Given the description of an element on the screen output the (x, y) to click on. 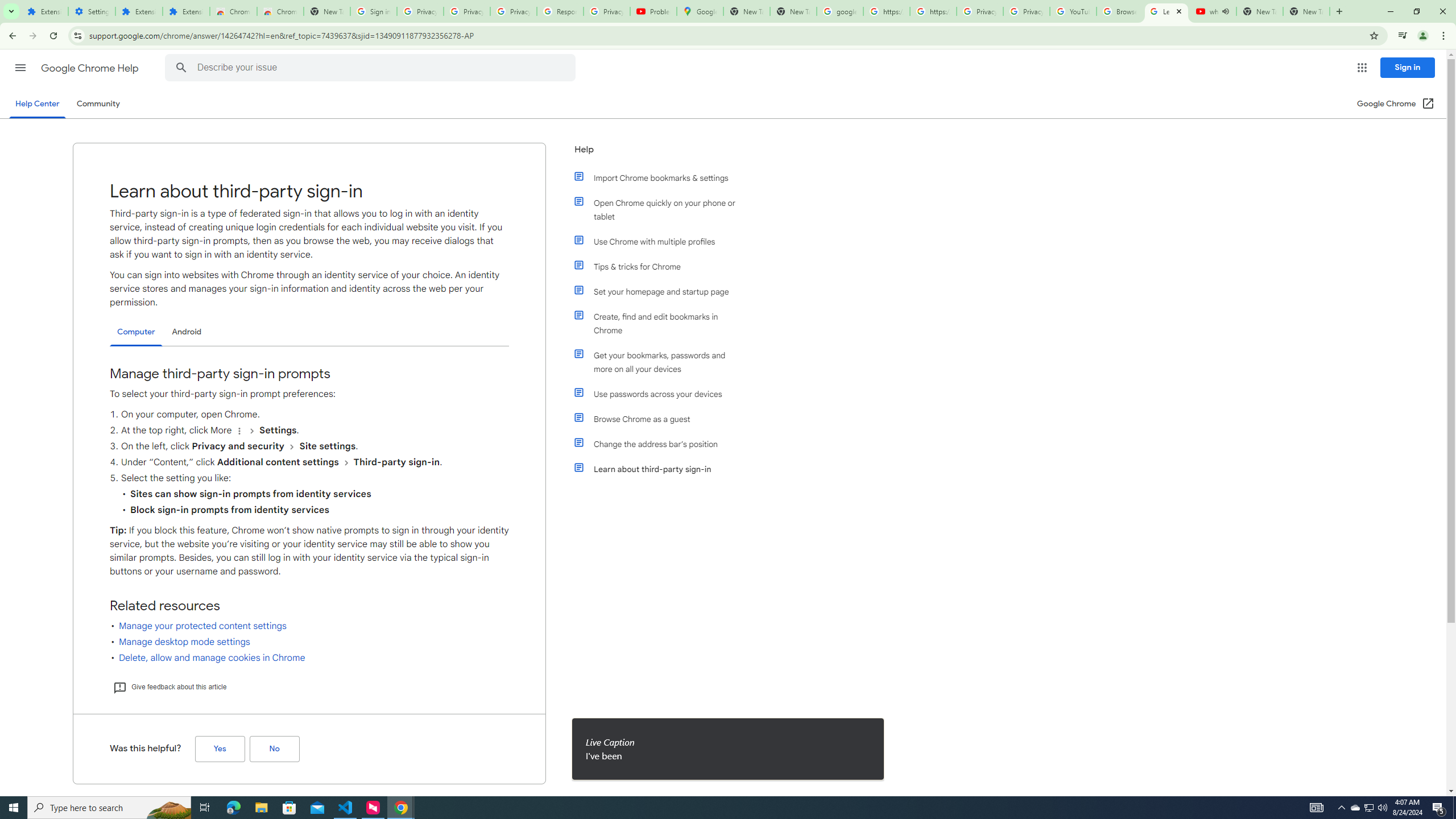
Yes (Was this helpful?) (219, 749)
Chrome Web Store (233, 11)
YouTube (1073, 11)
Search Help Center (181, 67)
Browse Chrome as a guest - Computer - Google Chrome Help (1120, 11)
Import Chrome bookmarks & settings (661, 177)
https://scholar.google.com/ (933, 11)
